Given the description of an element on the screen output the (x, y) to click on. 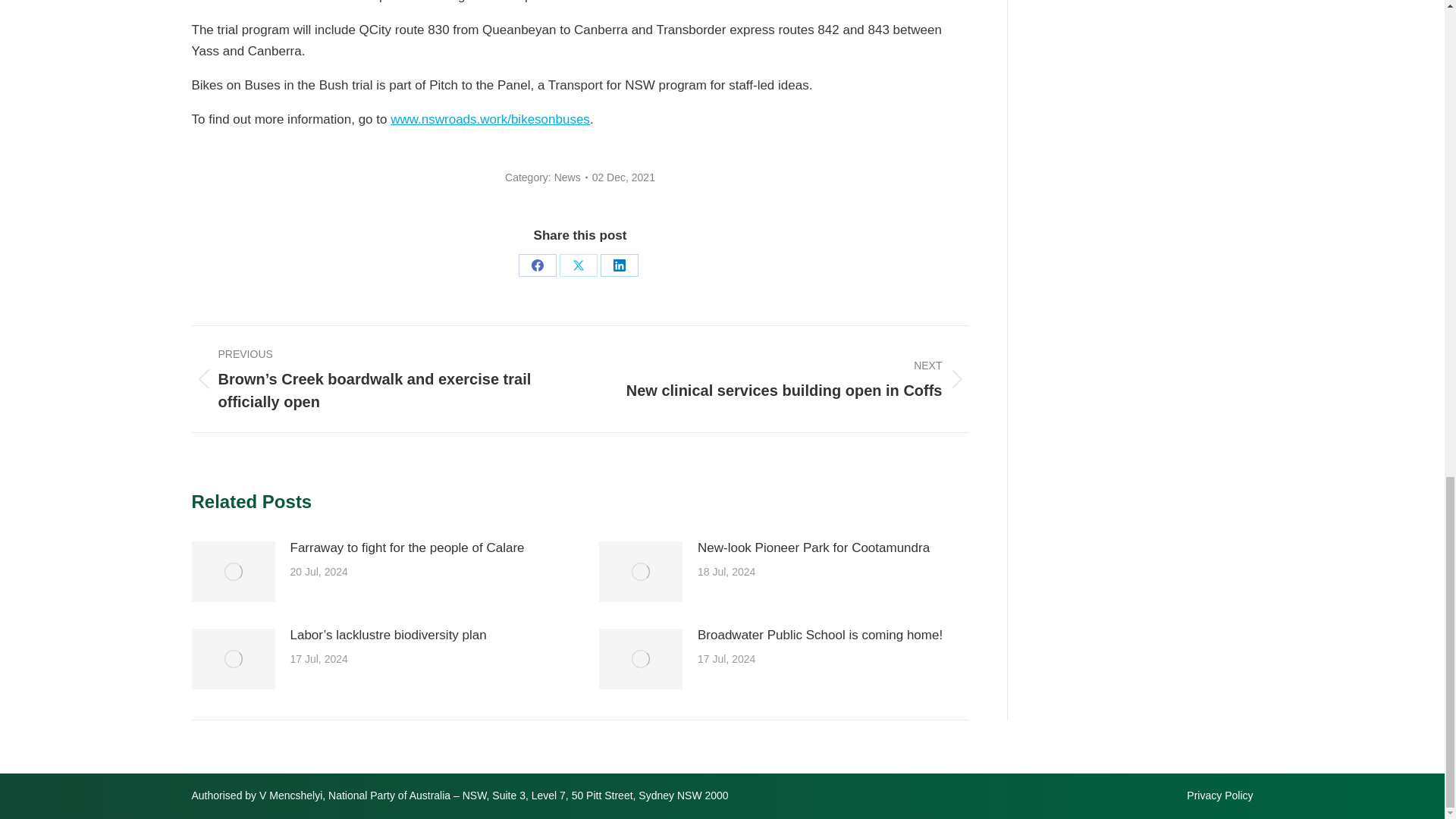
X (577, 264)
LinkedIn (619, 264)
1:11 pm (623, 177)
Facebook (537, 264)
